Given the description of an element on the screen output the (x, y) to click on. 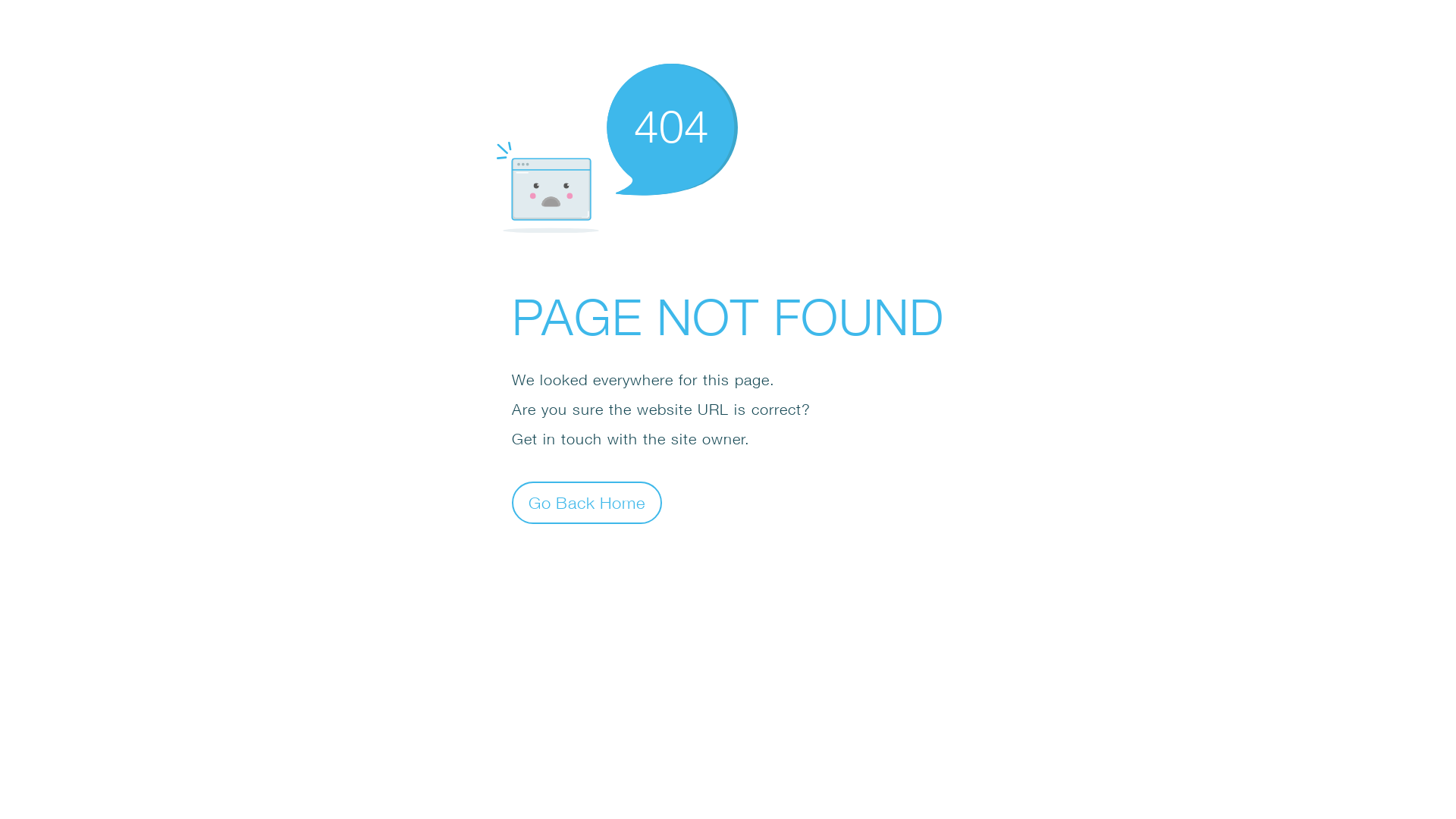
Go Back Home Element type: text (586, 502)
